Given the description of an element on the screen output the (x, y) to click on. 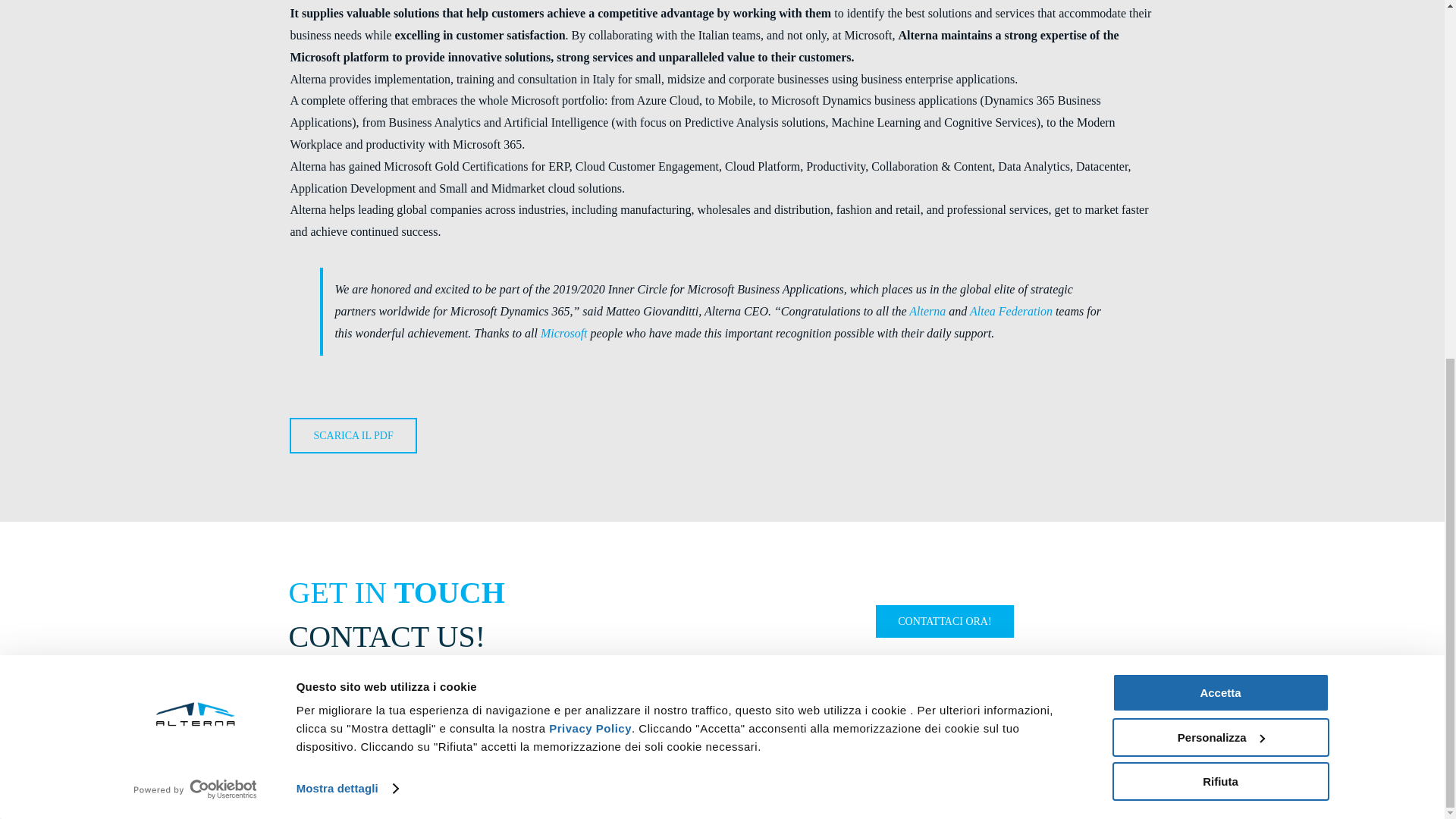
Rifiuta (1219, 147)
Privacy Policy (589, 93)
Mostra dettagli (347, 154)
Personalizza (1219, 102)
Accetta (1219, 58)
